Given the description of an element on the screen output the (x, y) to click on. 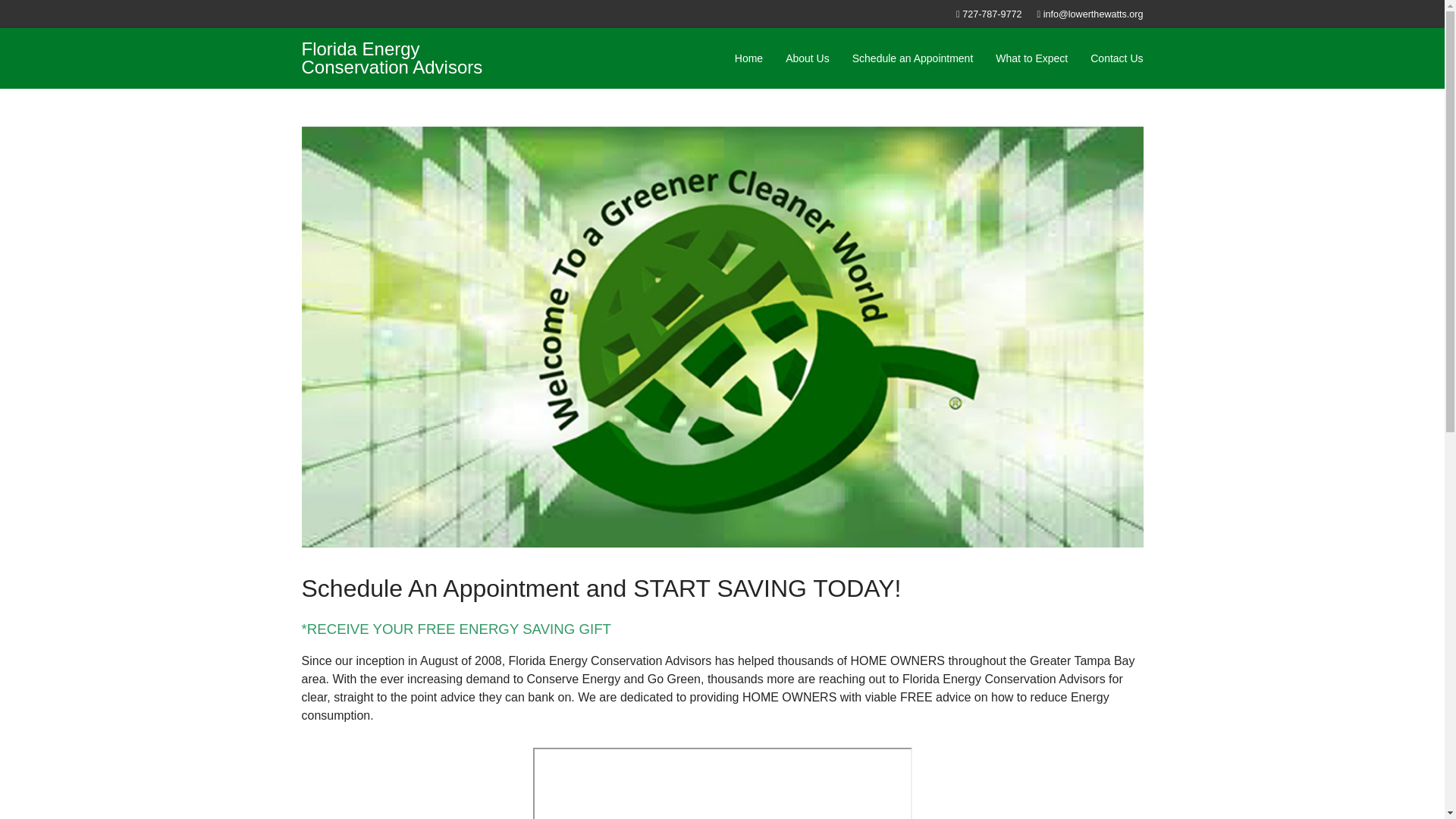
727-787-9772 (992, 14)
Schedule an Appointment (913, 57)
Contact Us (1116, 57)
About Us (807, 57)
Florida Energy Conservation Advisors (398, 58)
What to Expect (1031, 57)
